Given the description of an element on the screen output the (x, y) to click on. 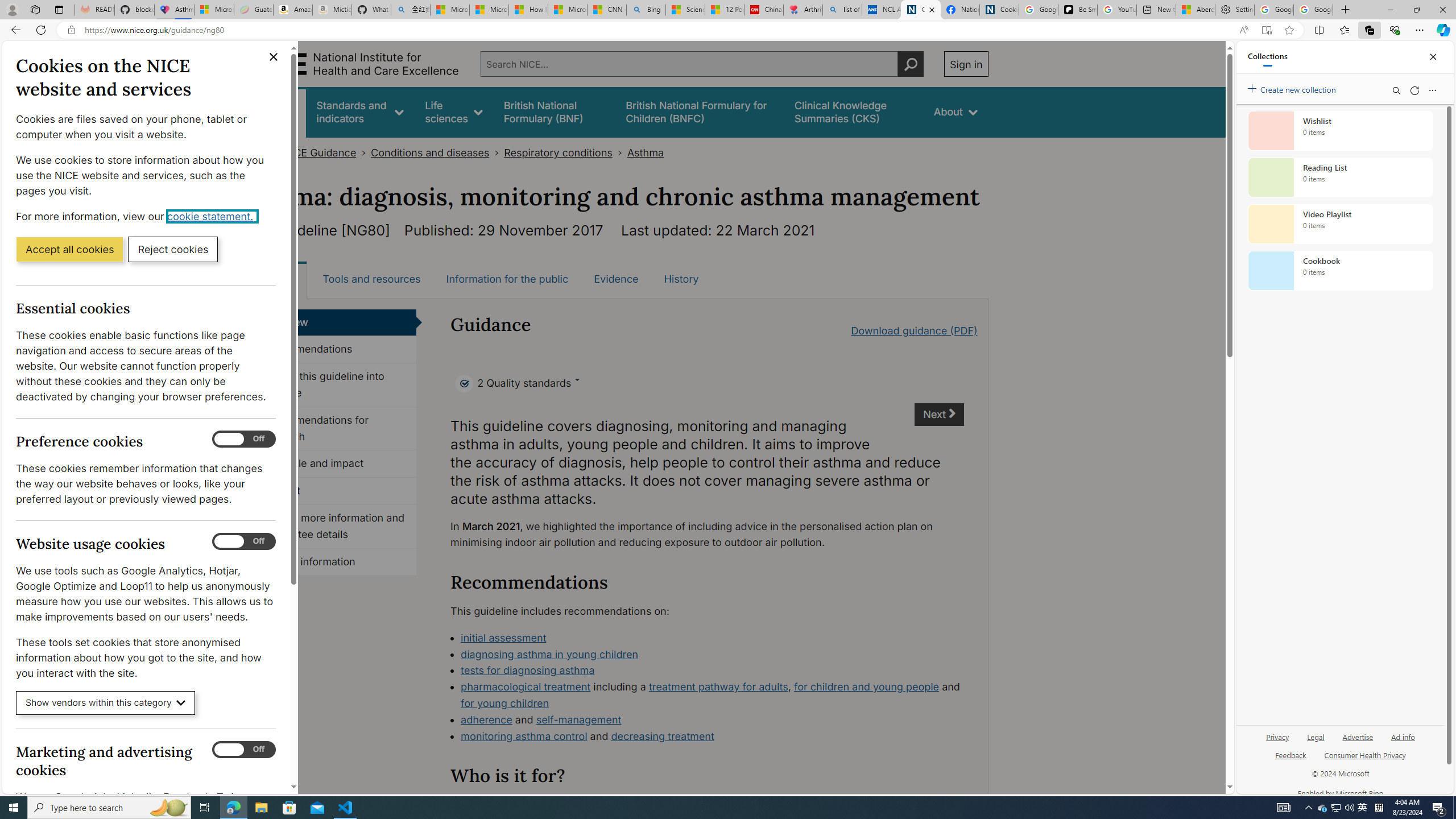
Context (333, 491)
Tools and resources (370, 279)
pharmacological treatment (525, 686)
Information for the public (507, 279)
Respiratory conditions (557, 152)
diagnosing asthma in young children (549, 653)
Context (333, 491)
